Given the description of an element on the screen output the (x, y) to click on. 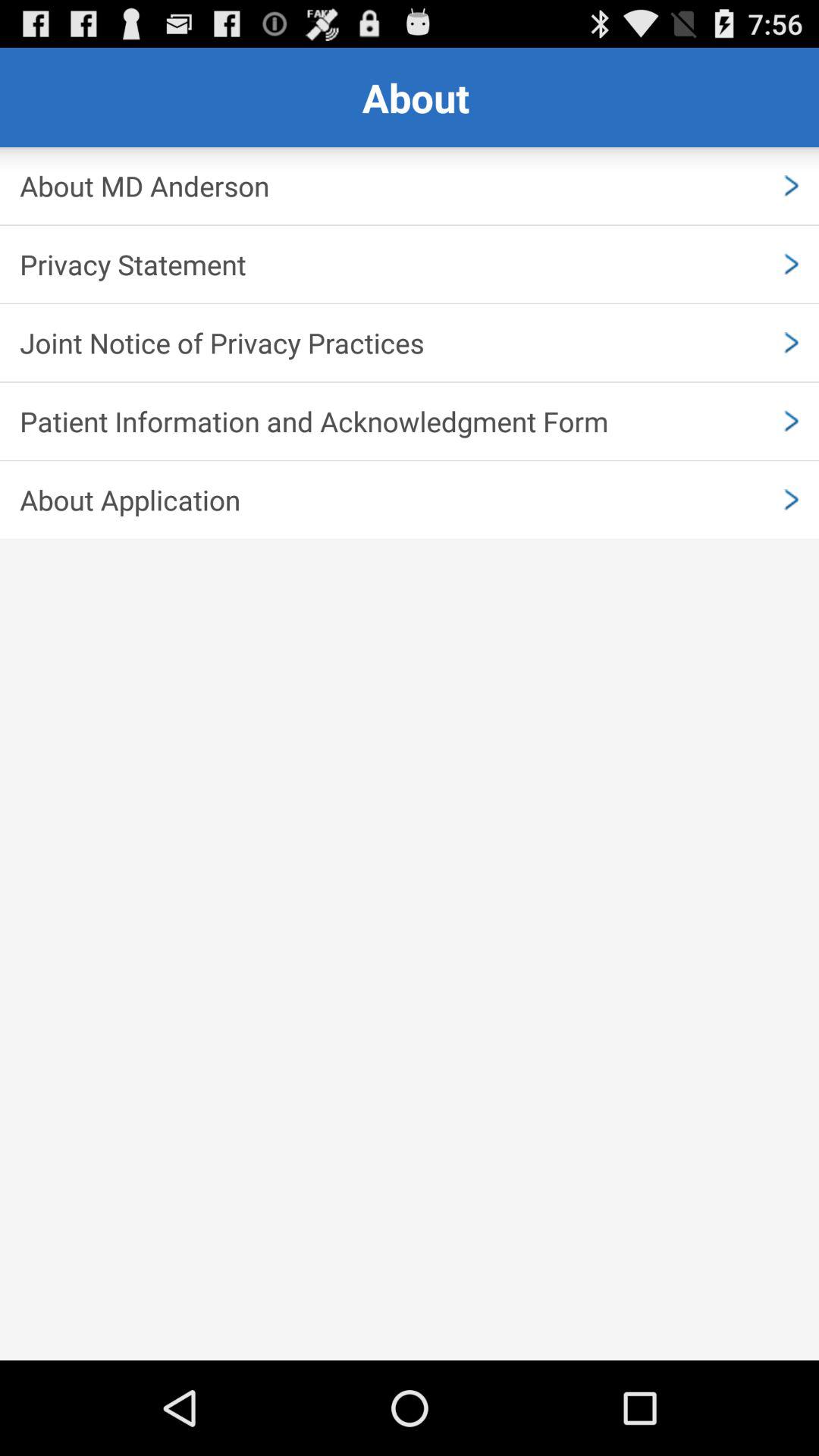
choose about md anderson item (409, 185)
